Given the description of an element on the screen output the (x, y) to click on. 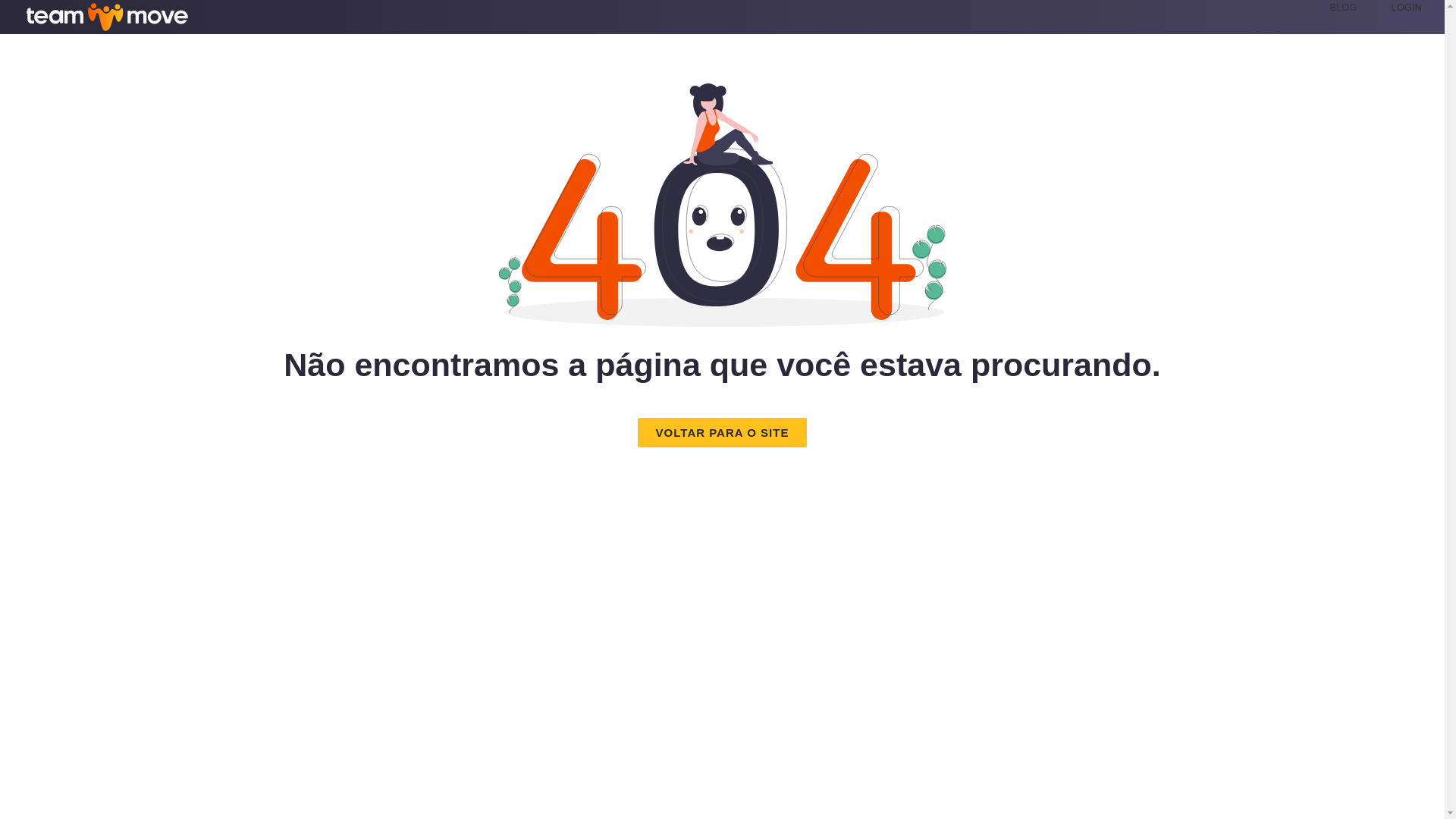
VOLTAR PARA O SITE (722, 432)
BLOG (1342, 7)
LOGIN (1406, 7)
